Given the description of an element on the screen output the (x, y) to click on. 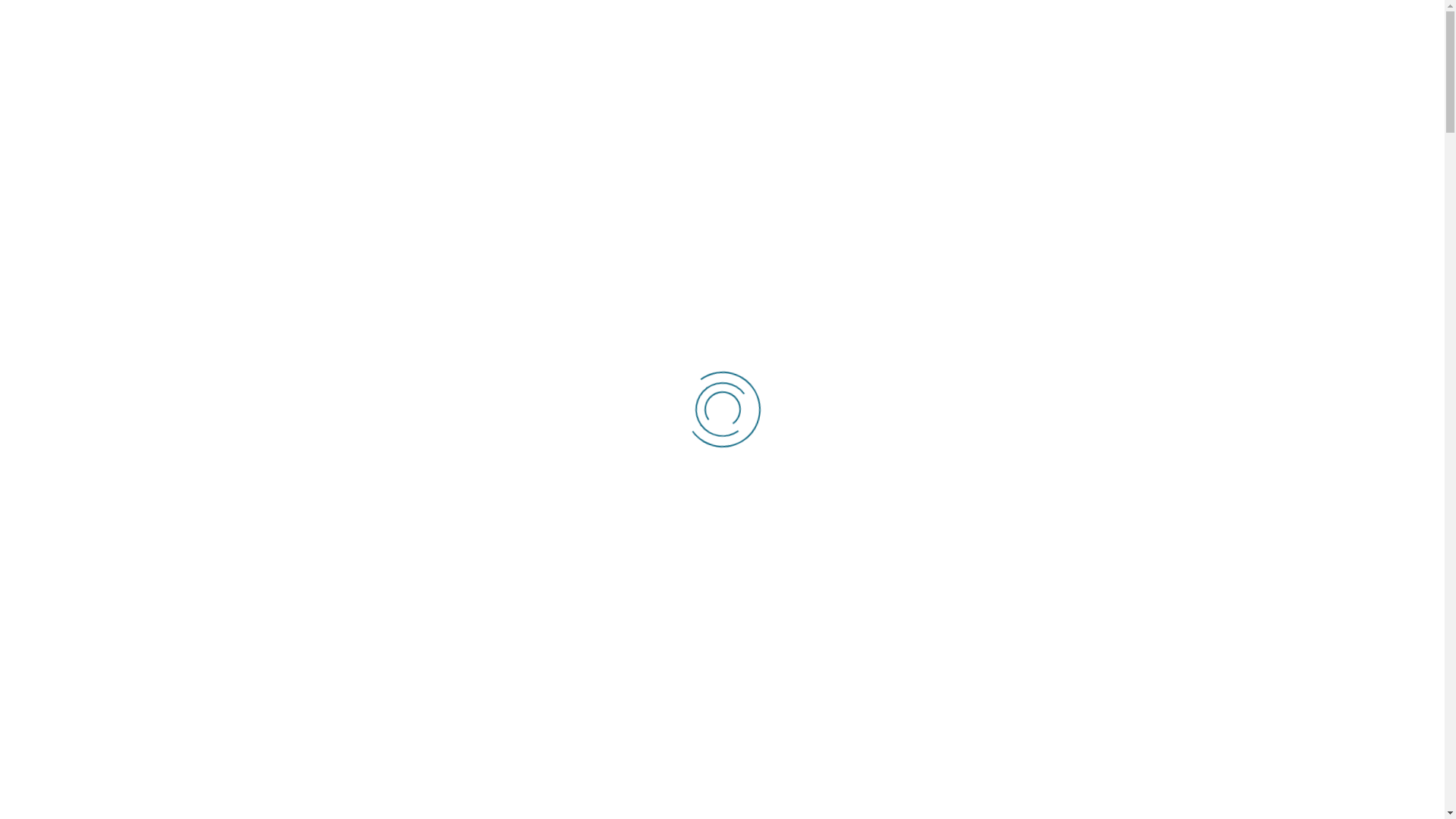
Contact Officer Workshop Element type: text (1002, 386)
RESOURCES Element type: text (786, 170)
VIDEO LIBRARY Element type: text (947, 170)
Grievance Officer Workshop Element type: text (1010, 481)
Equal Opportunity Training Element type: hover (369, 75)
ON-LINE MODULES Element type: text (676, 170)
IN-PERSON WORKSHOPS Element type: text (448, 170)
HOME Element type: text (256, 170)
CONTACT US Element type: text (1049, 170)
Search Element type: text (1220, 244)
COACHING Element type: text (570, 170)
Grievance Officer Report Writing Workshop Element type: text (1059, 577)
ABOUT US Element type: text (327, 170)
BLOG Element type: text (863, 170)
